Given the description of an element on the screen output the (x, y) to click on. 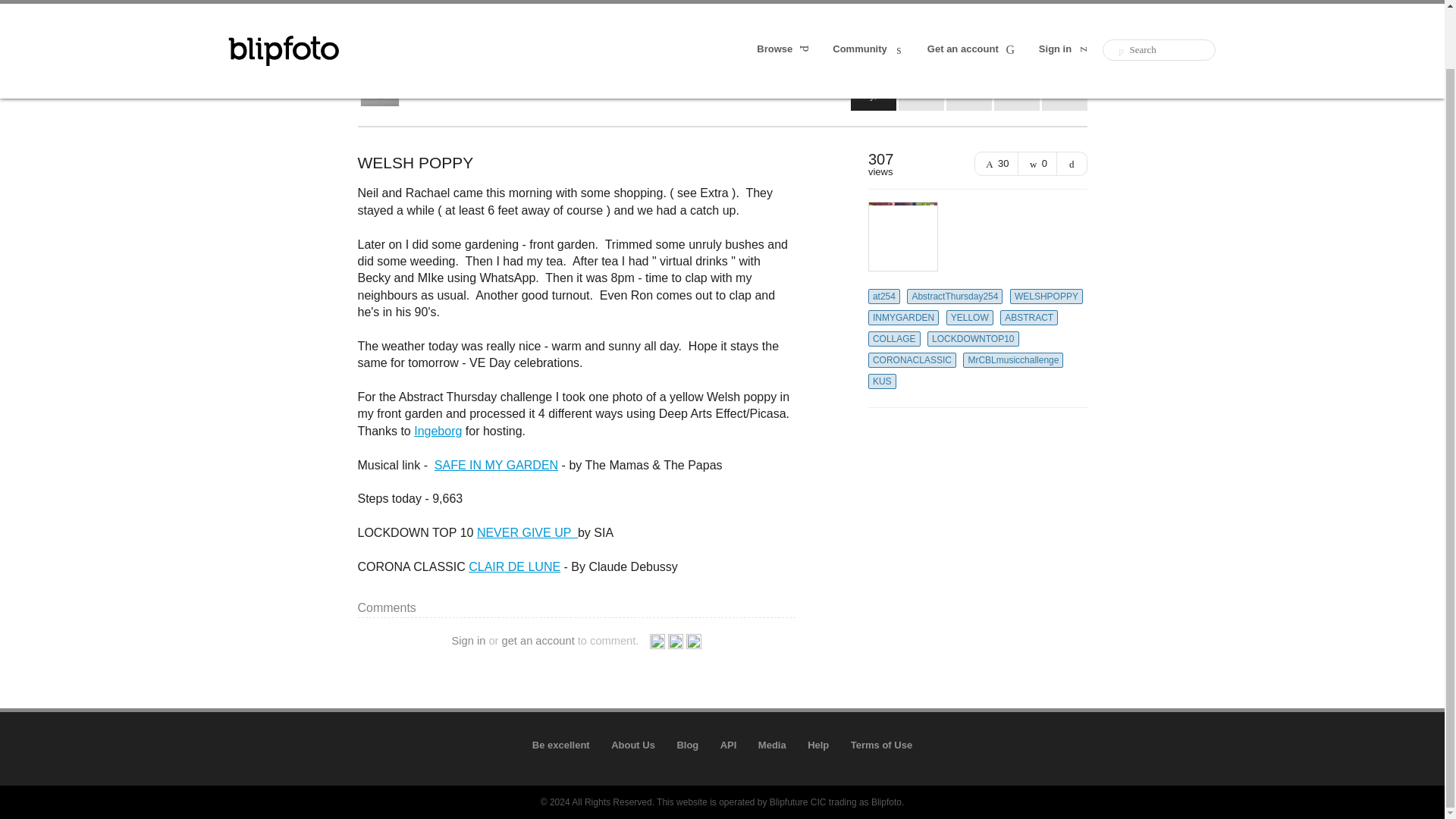
at254 (883, 296)
MrCBLmusicchallenge (1012, 359)
SAFE IN MY GARDEN (495, 464)
WELSHPOPPY (1046, 296)
AbstractThursday254 (955, 296)
dollydoug (440, 91)
Dolly's Day (627, 75)
calendar (920, 87)
Ingeborg (437, 431)
CORONACLASSIC (911, 359)
